Given the description of an element on the screen output the (x, y) to click on. 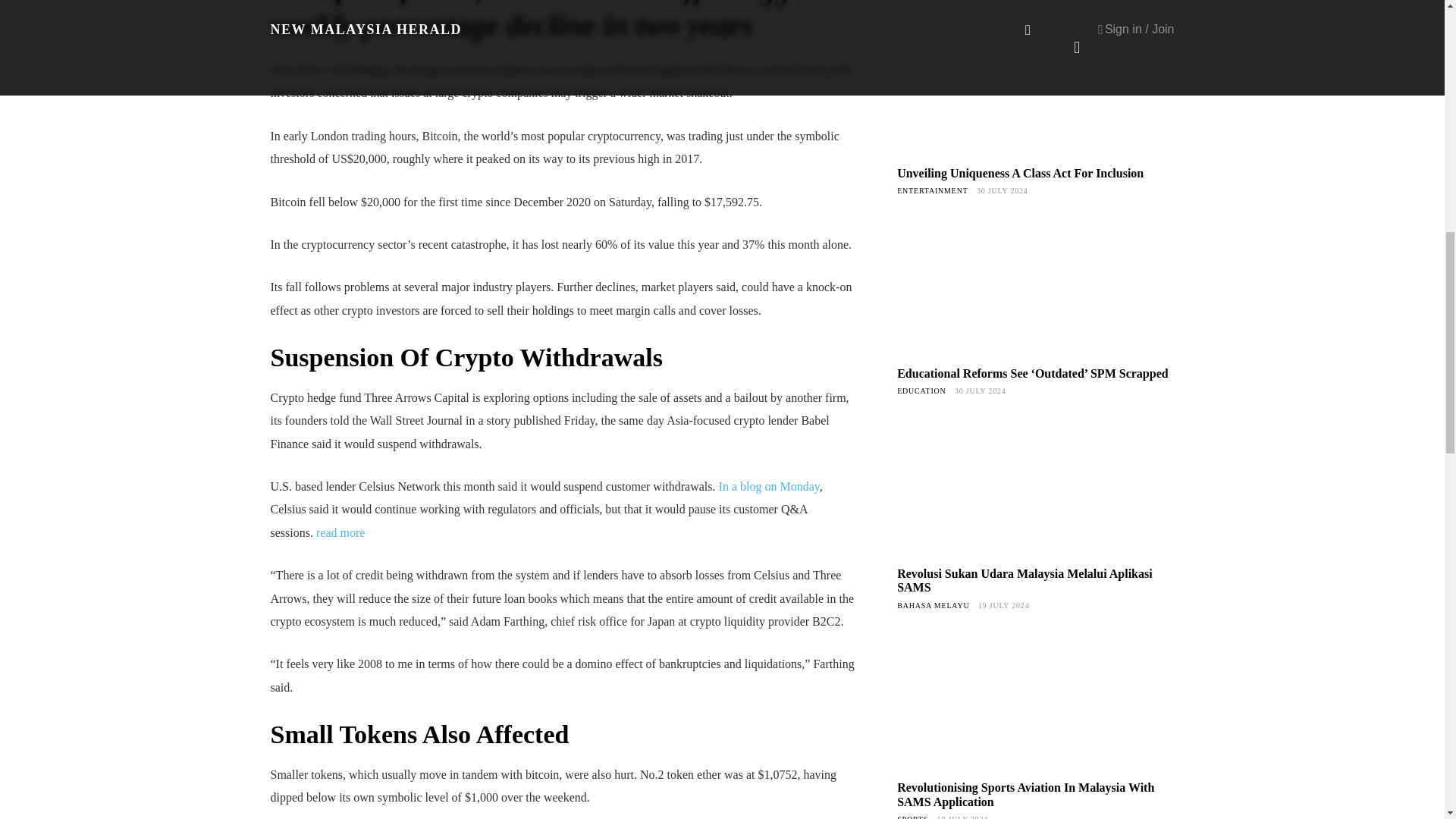
Unveiling Uniqueness A Class Act For Inclusion (1019, 173)
Unveiling Uniqueness A Class Act For Inclusion (1034, 87)
read more (340, 532)
In a blog on Monday (769, 486)
